Given the description of an element on the screen output the (x, y) to click on. 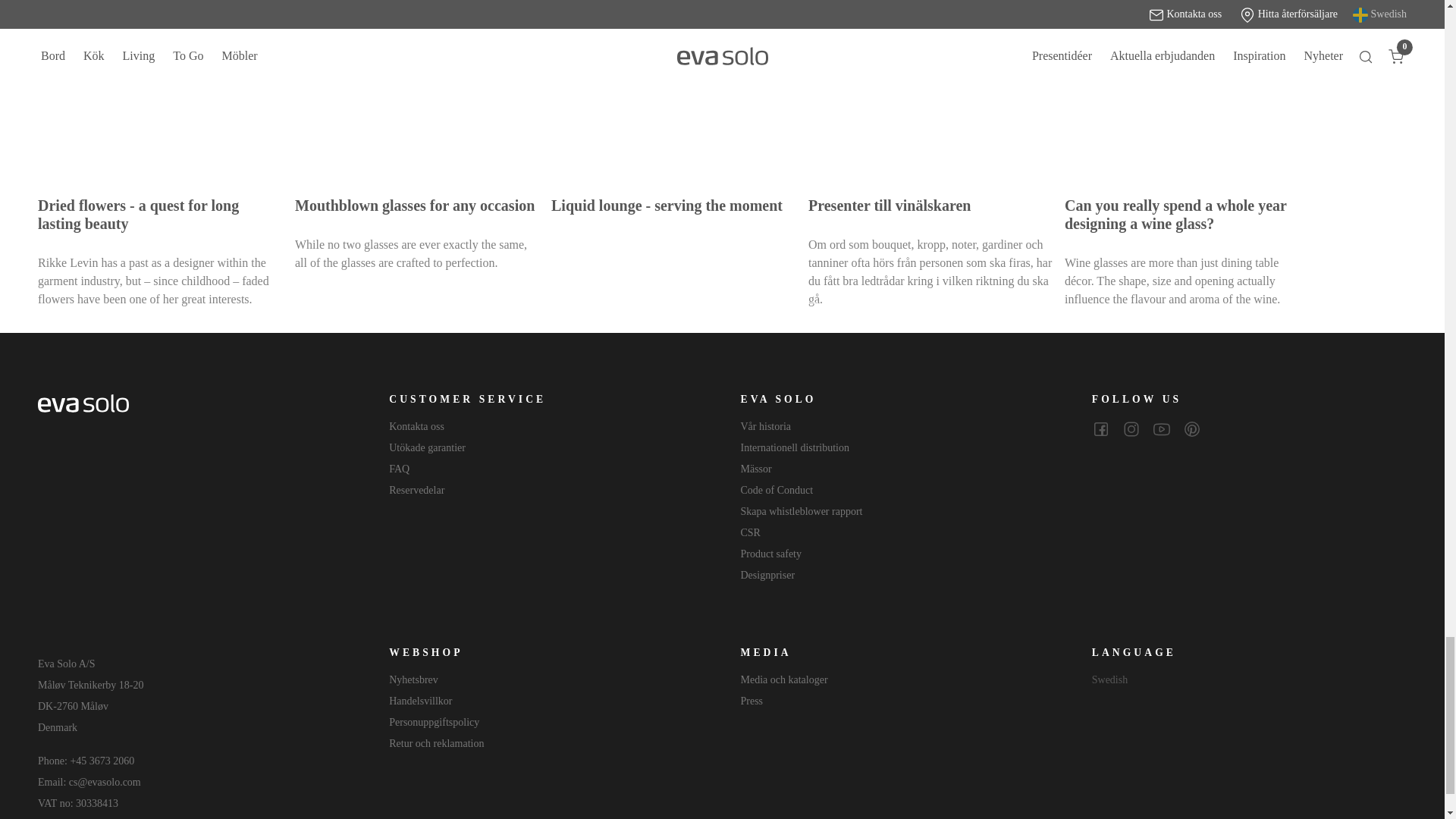
Mouthblown glasses for any occasion (417, 90)
Go to slide 5 (705, 302)
Go to slide 1 (571, 302)
Can you really spend a whole year designing a wine glass? (1186, 90)
Go to slide 10 (872, 302)
Go to slide 3 (638, 302)
Go to slide 8 (805, 302)
Go to slide 7 (772, 302)
Go to slide 2 (604, 302)
Dried flowers - a quest for long lasting beauty (159, 90)
Go to slide 6 (738, 302)
Go to slide 9 (839, 302)
Liquid lounge - serving the moment (673, 90)
Go to slide 4 (671, 302)
